Given the description of an element on the screen output the (x, y) to click on. 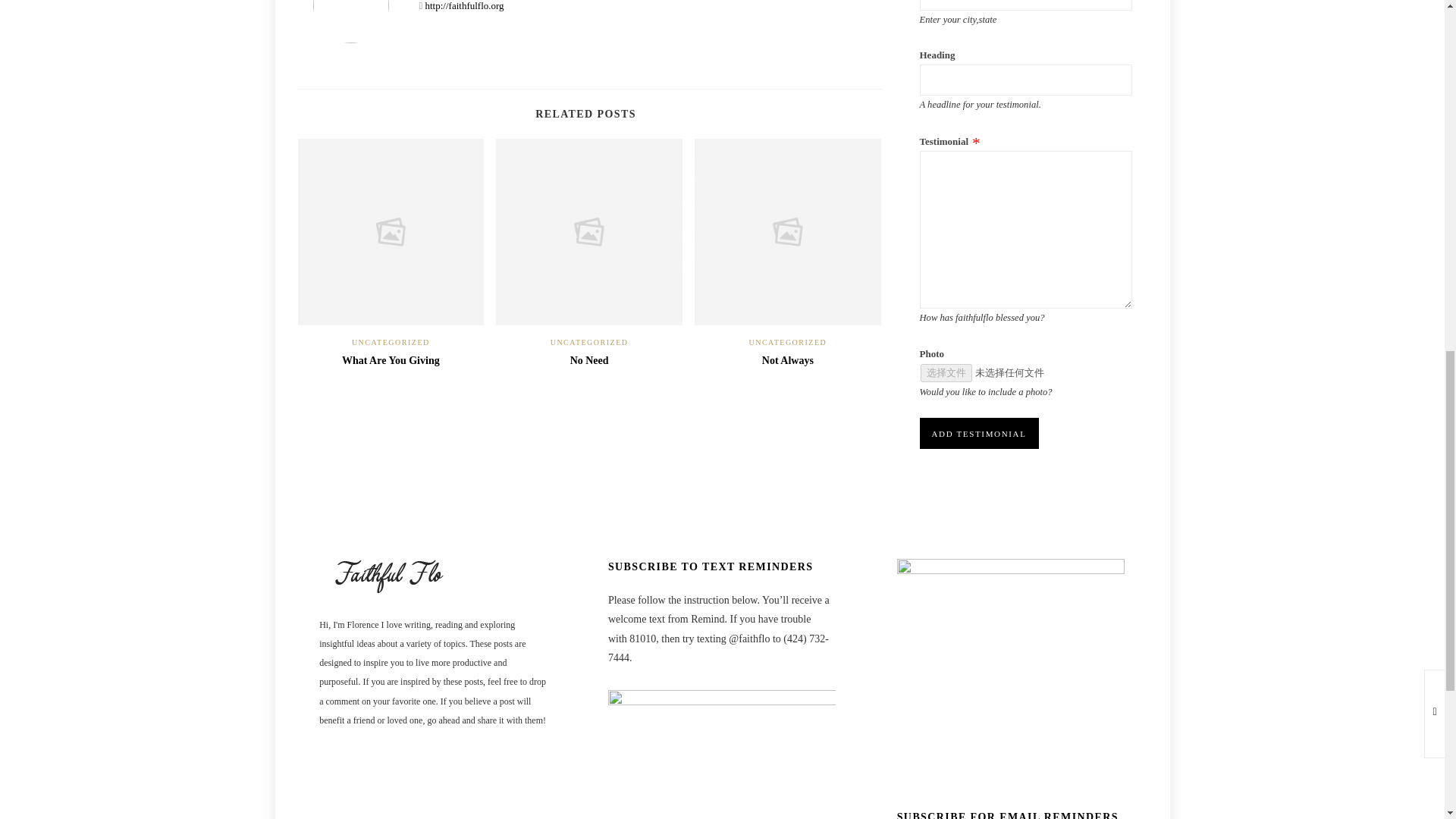
UNCATEGORIZED (787, 342)
Add Testimonial (978, 432)
No Need (589, 360)
What Are You Giving (390, 360)
Not Always (787, 360)
UNCATEGORIZED (390, 342)
UNCATEGORIZED (589, 342)
